Given the description of an element on the screen output the (x, y) to click on. 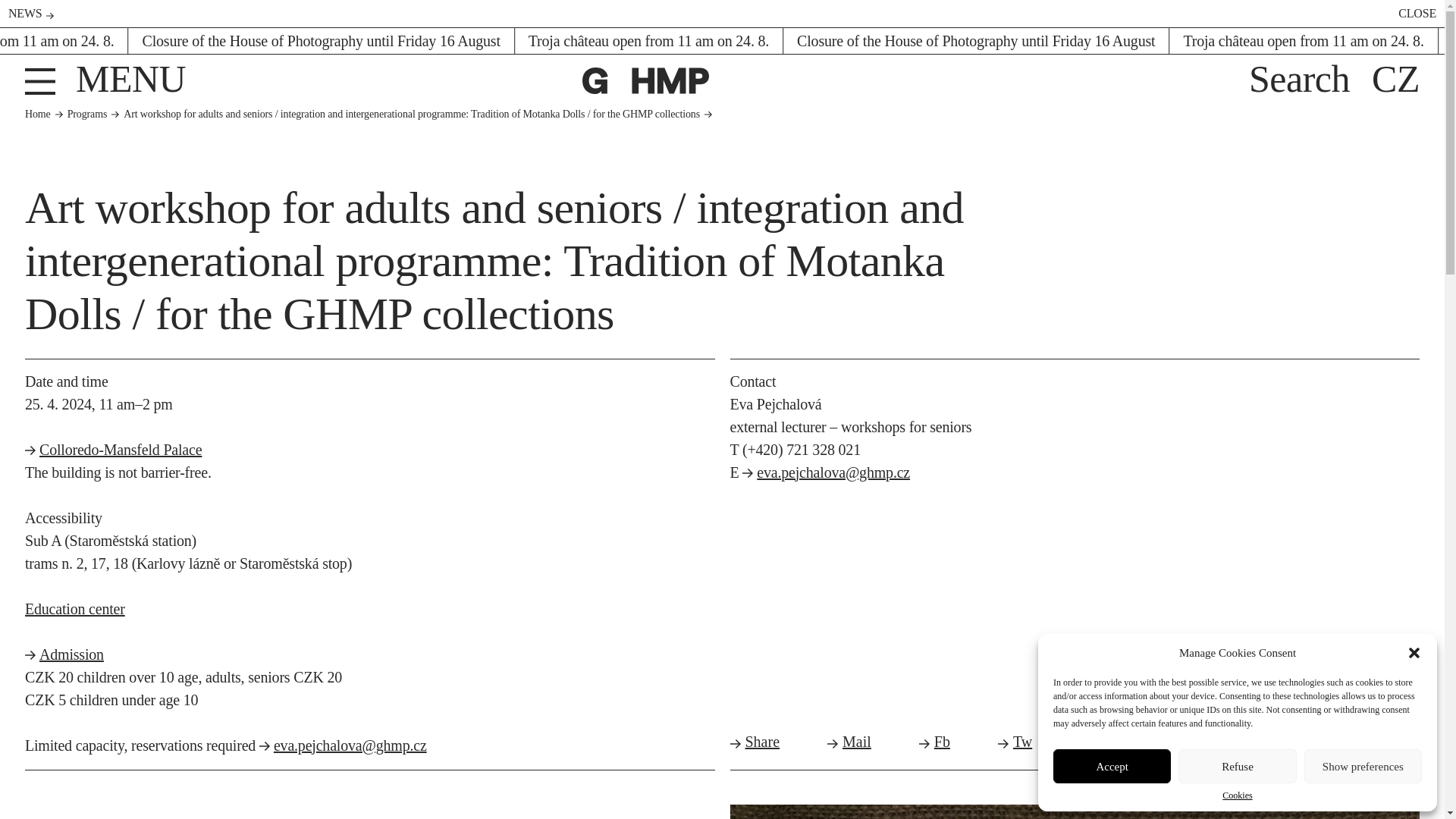
Cookies (1237, 795)
NEWS (30, 12)
Closure of the House of Photography until Friday 16 August (976, 40)
Accept (1111, 765)
Show preferences (1363, 765)
Refuse (1236, 765)
CLOSE (1407, 12)
Closure of the House of Photography until Friday 16 August (321, 40)
